Given the description of an element on the screen output the (x, y) to click on. 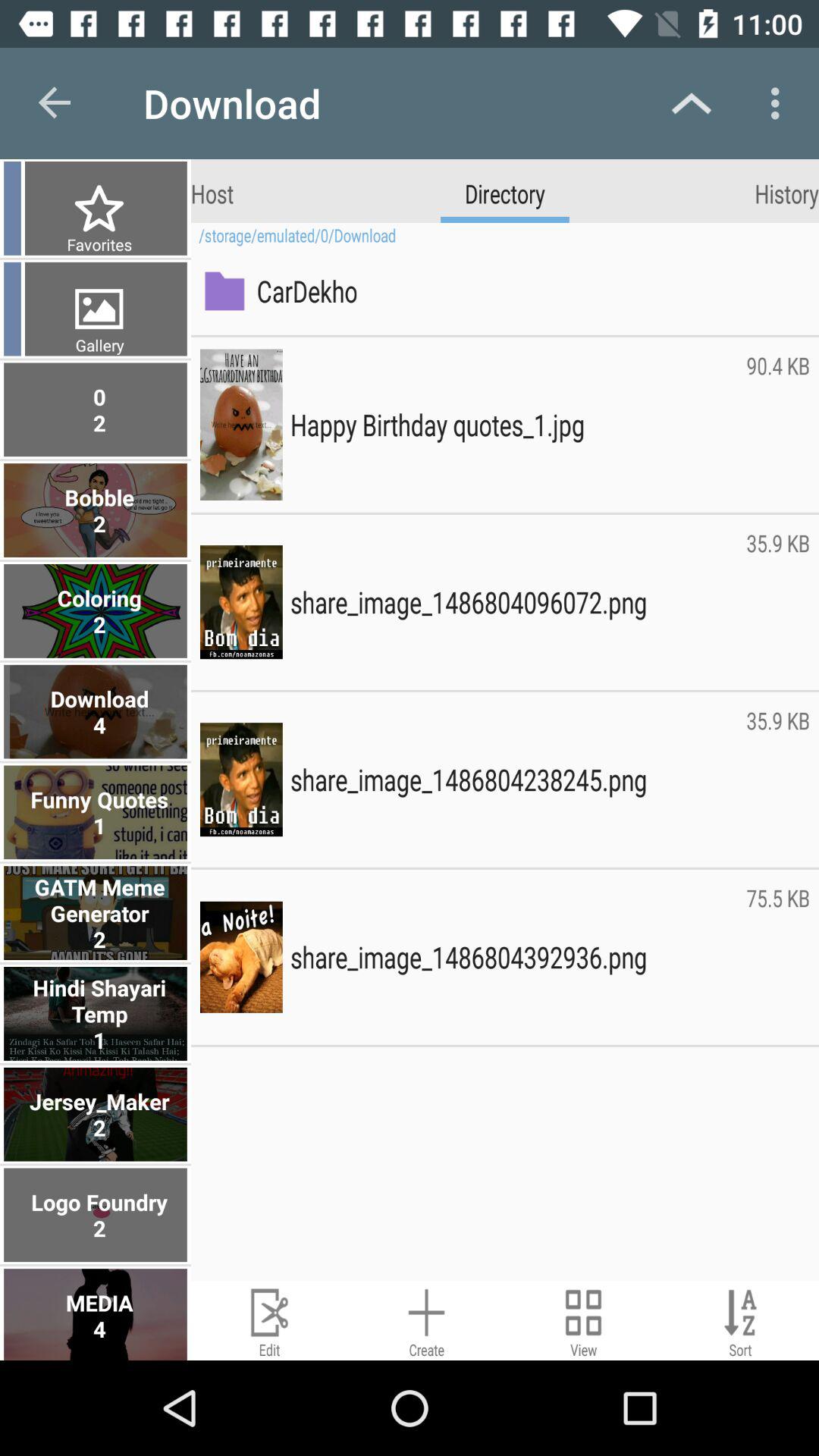
create new image (426, 1320)
